Given the description of an element on the screen output the (x, y) to click on. 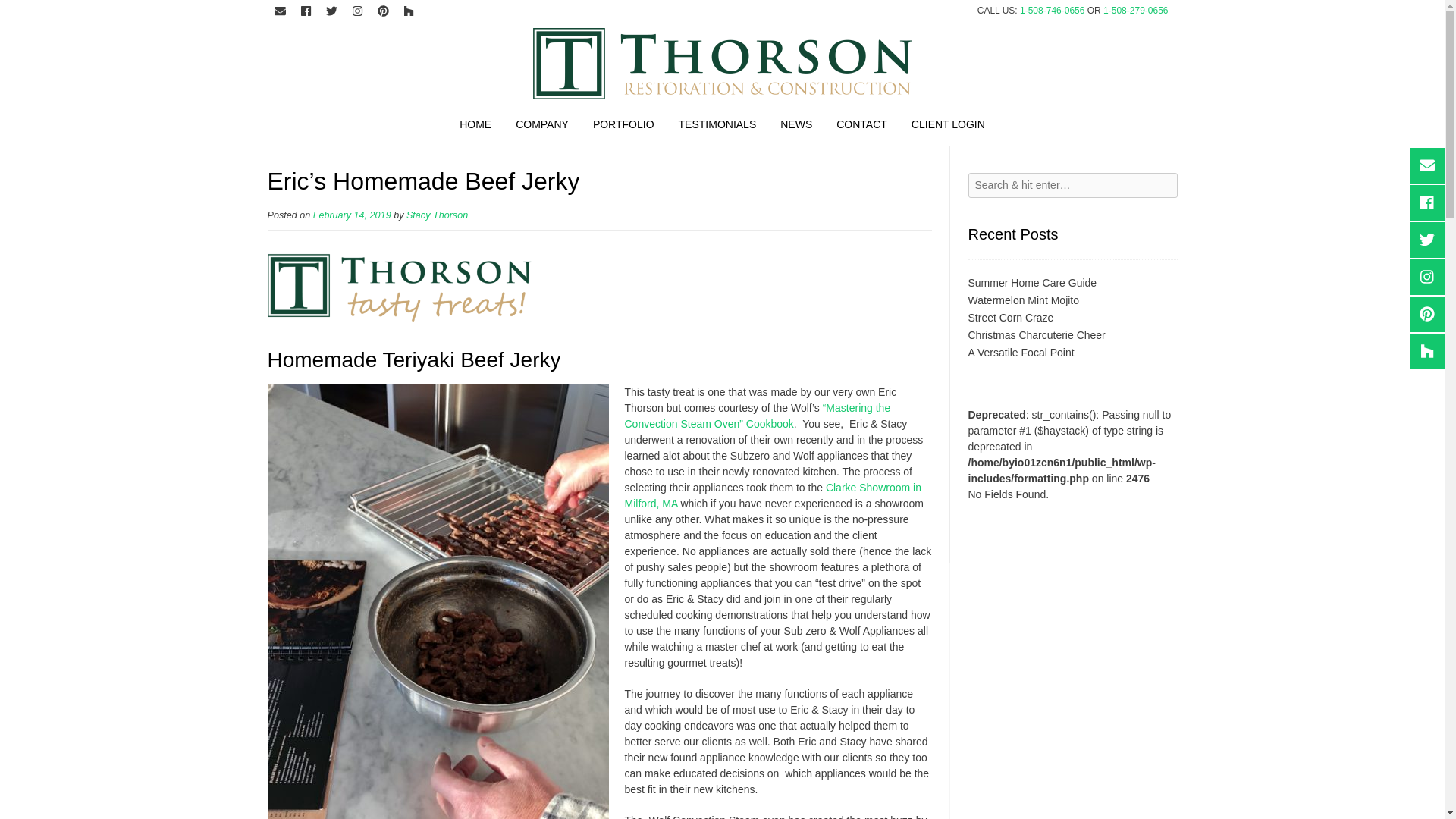
NEWS (796, 126)
PORTFOLIO (623, 126)
COMPANY (541, 126)
HOME (474, 126)
Pin Us on Pinterest (382, 12)
1-508-279-0656 (1135, 9)
CONTACT (861, 126)
1-508-746-0656 (1052, 9)
CLIENT LOGIN (948, 126)
Find our profile on Houzz (409, 12)
Follow Us on Instagram (356, 12)
TESTIMONIALS (717, 126)
Send Us an Email (279, 12)
February 14, 2019 (352, 214)
Follow Us on Twitter (330, 12)
